Given the description of an element on the screen output the (x, y) to click on. 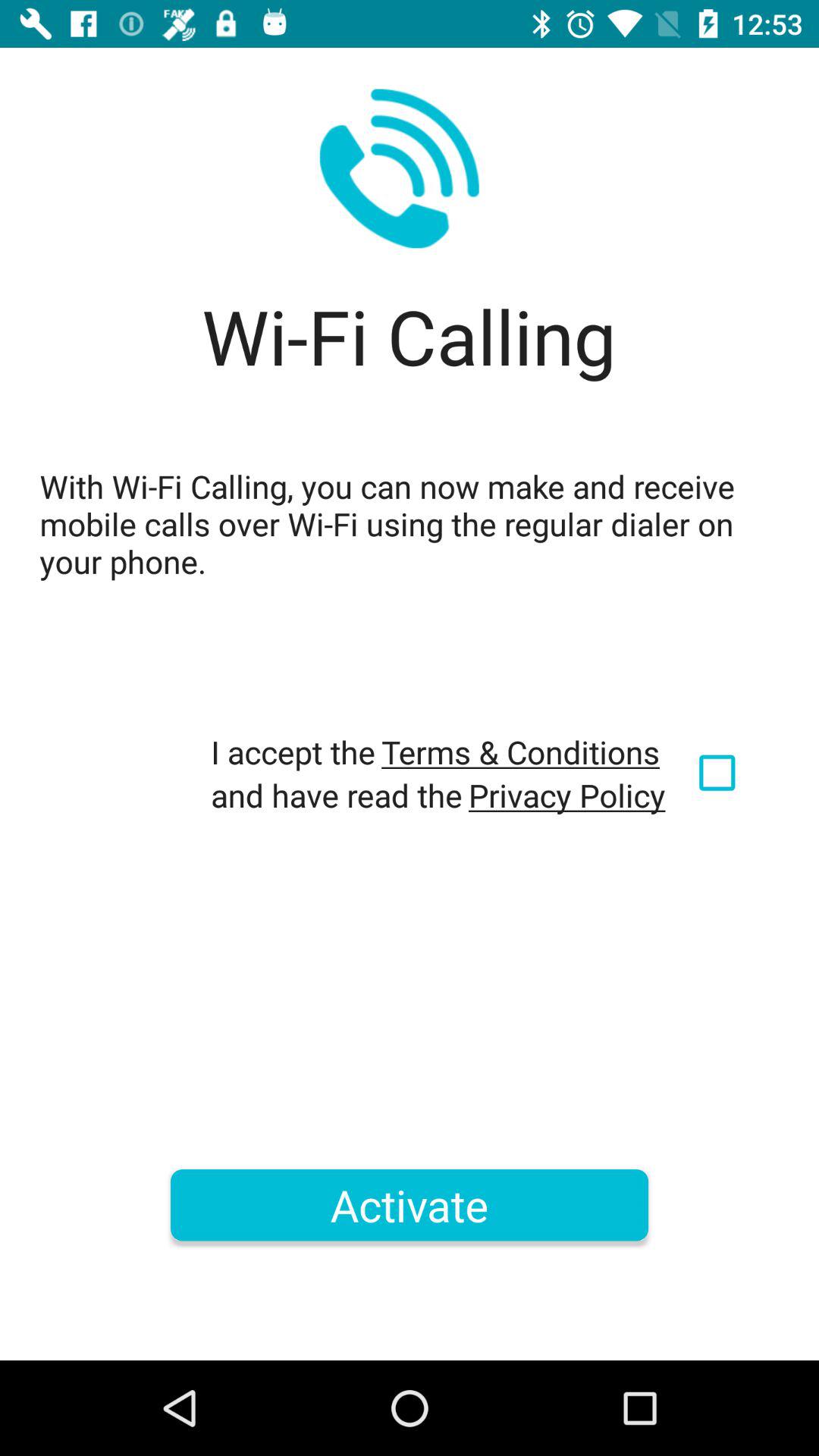
click the item above activate button (566, 794)
